Given the description of an element on the screen output the (x, y) to click on. 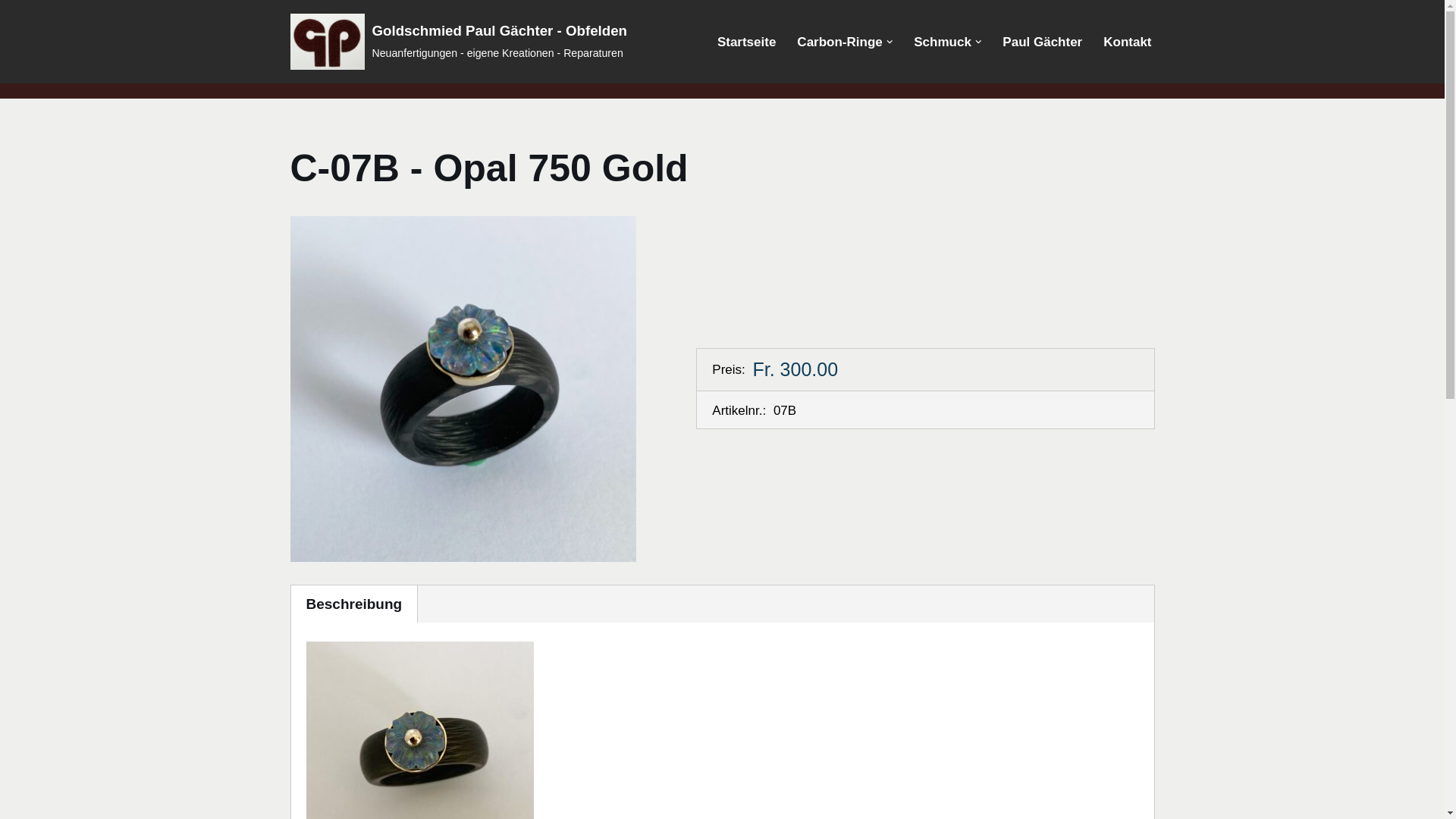
Kontakt Element type: text (1127, 41)
Schmuck Element type: text (942, 41)
Zum Inhalt springen Element type: text (11, 31)
Carbon-Ringe Element type: text (839, 41)
Beschreibung Element type: text (354, 603)
Startseite Element type: text (746, 41)
